Given the description of an element on the screen output the (x, y) to click on. 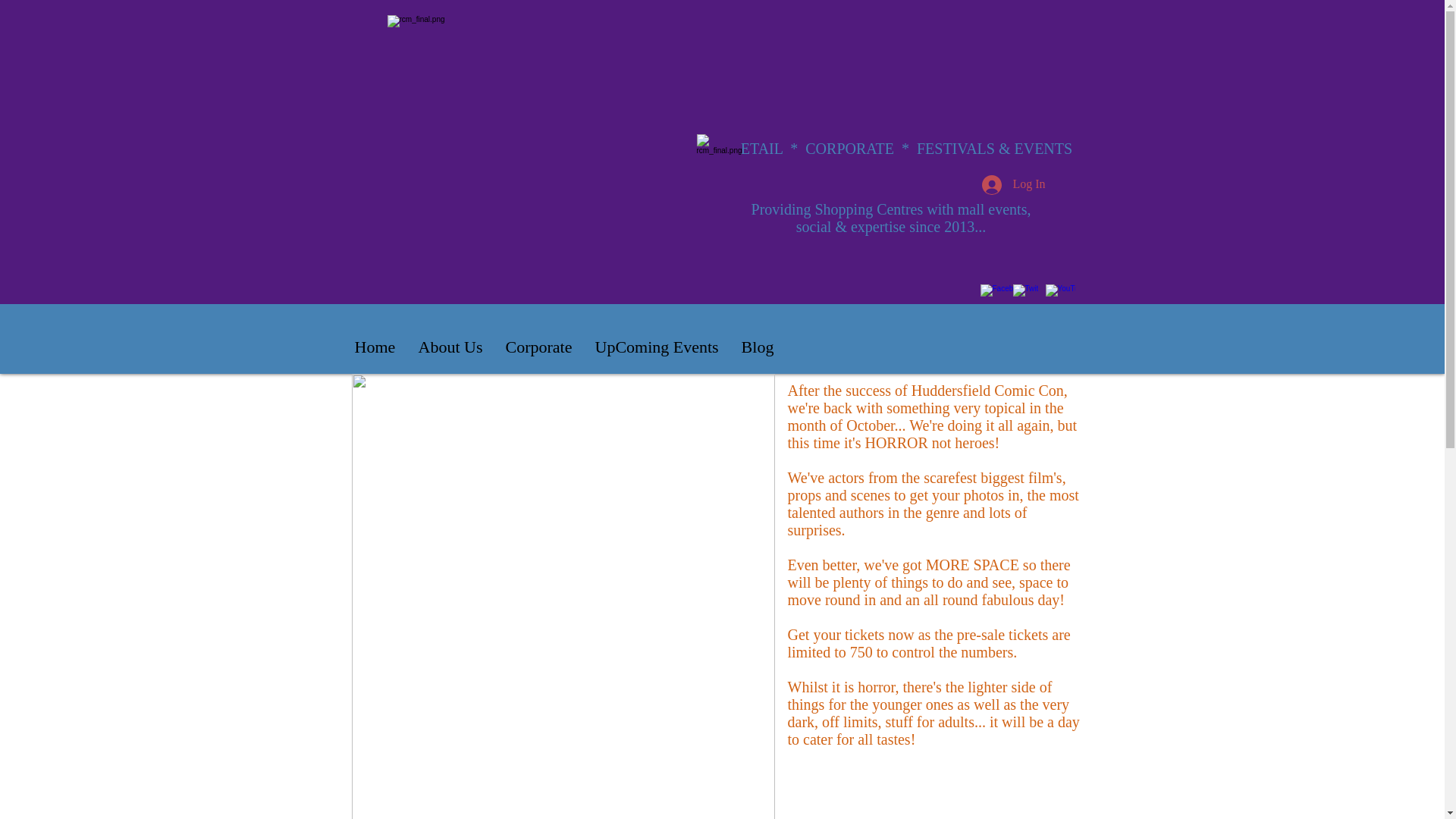
Home (374, 347)
Blog (756, 347)
UpComing Events (656, 347)
Corporate (539, 347)
About Us (449, 347)
Log In (1013, 184)
